Given the description of an element on the screen output the (x, y) to click on. 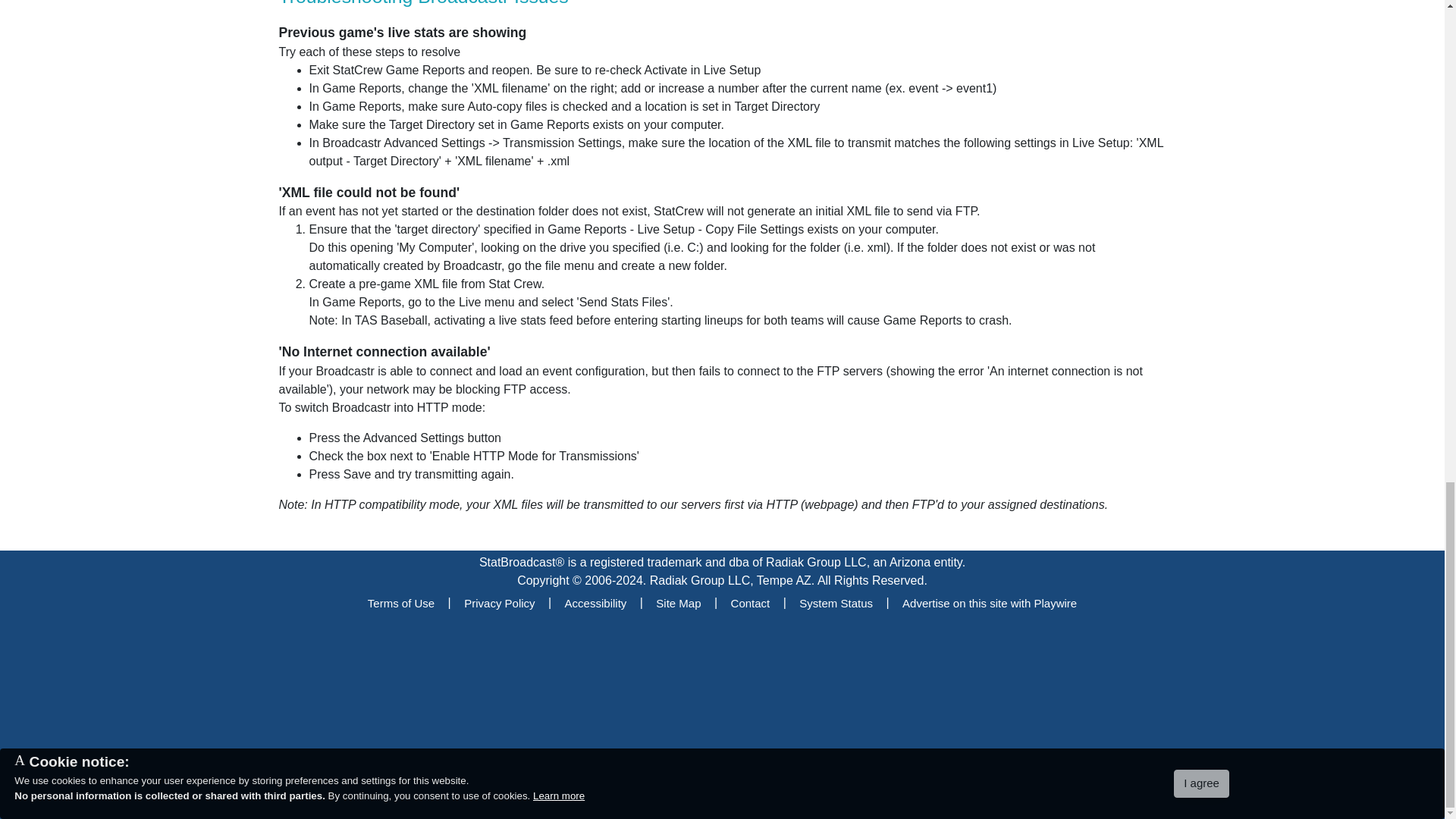
Site Map (678, 603)
Terms of Use (401, 603)
System Status (835, 603)
Accessibility (595, 603)
Advertise on this site with Playwire (989, 603)
Contact (750, 603)
Privacy Policy (499, 603)
